Given the description of an element on the screen output the (x, y) to click on. 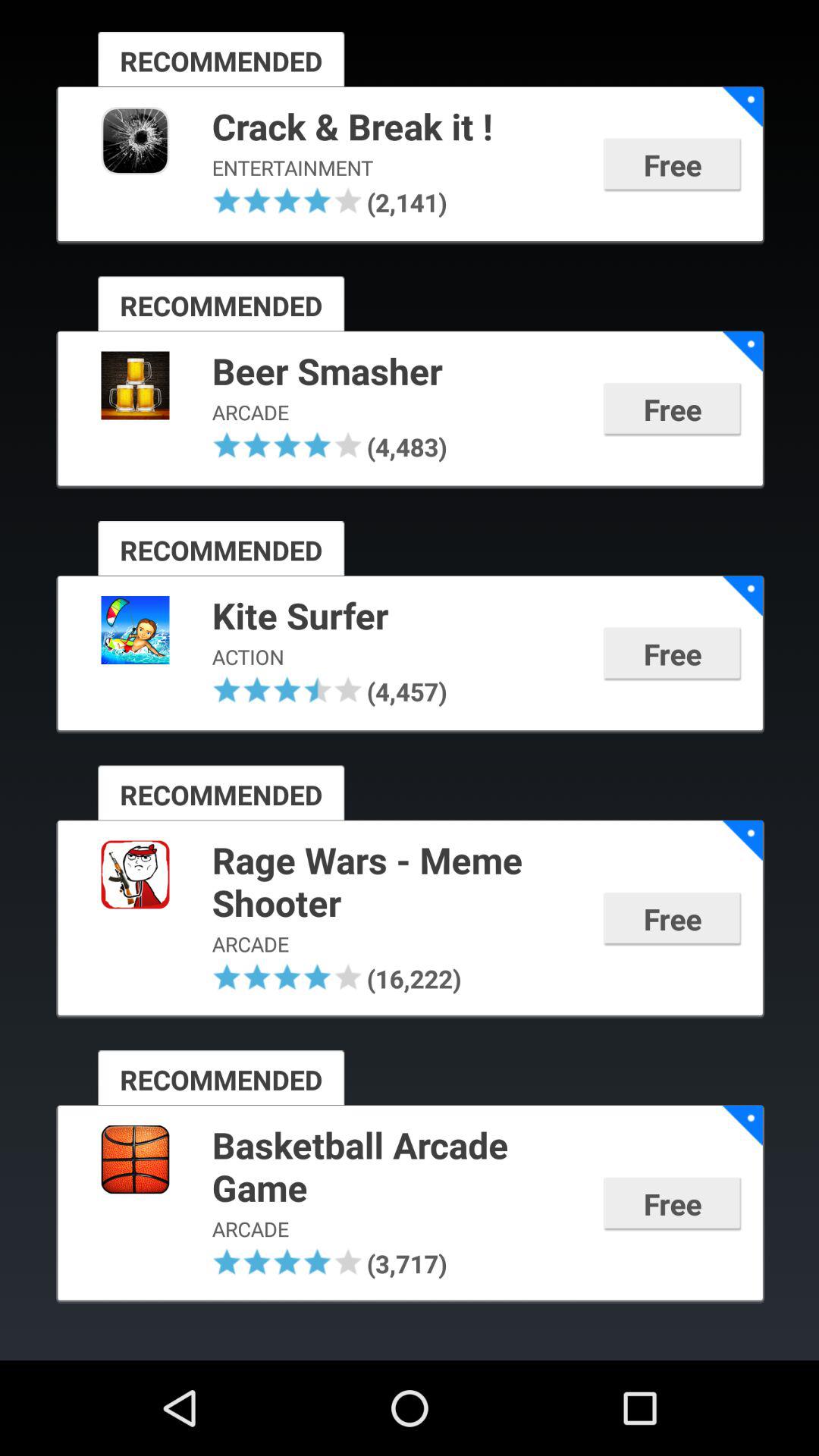
select item to the right of rage wars meme (742, 840)
